Given the description of an element on the screen output the (x, y) to click on. 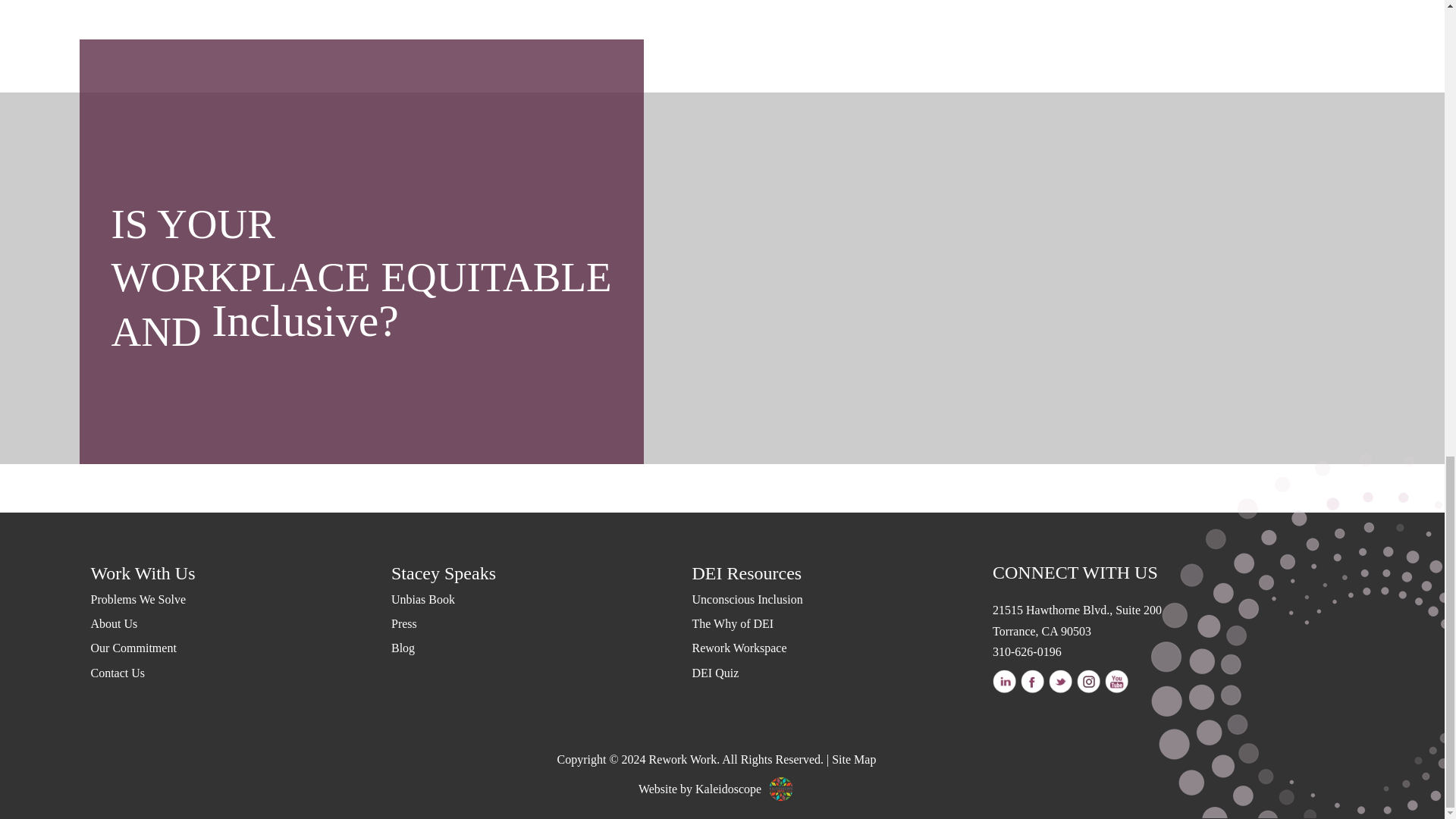
Problems We Solve (240, 600)
Work With Us (240, 572)
